Given the description of an element on the screen output the (x, y) to click on. 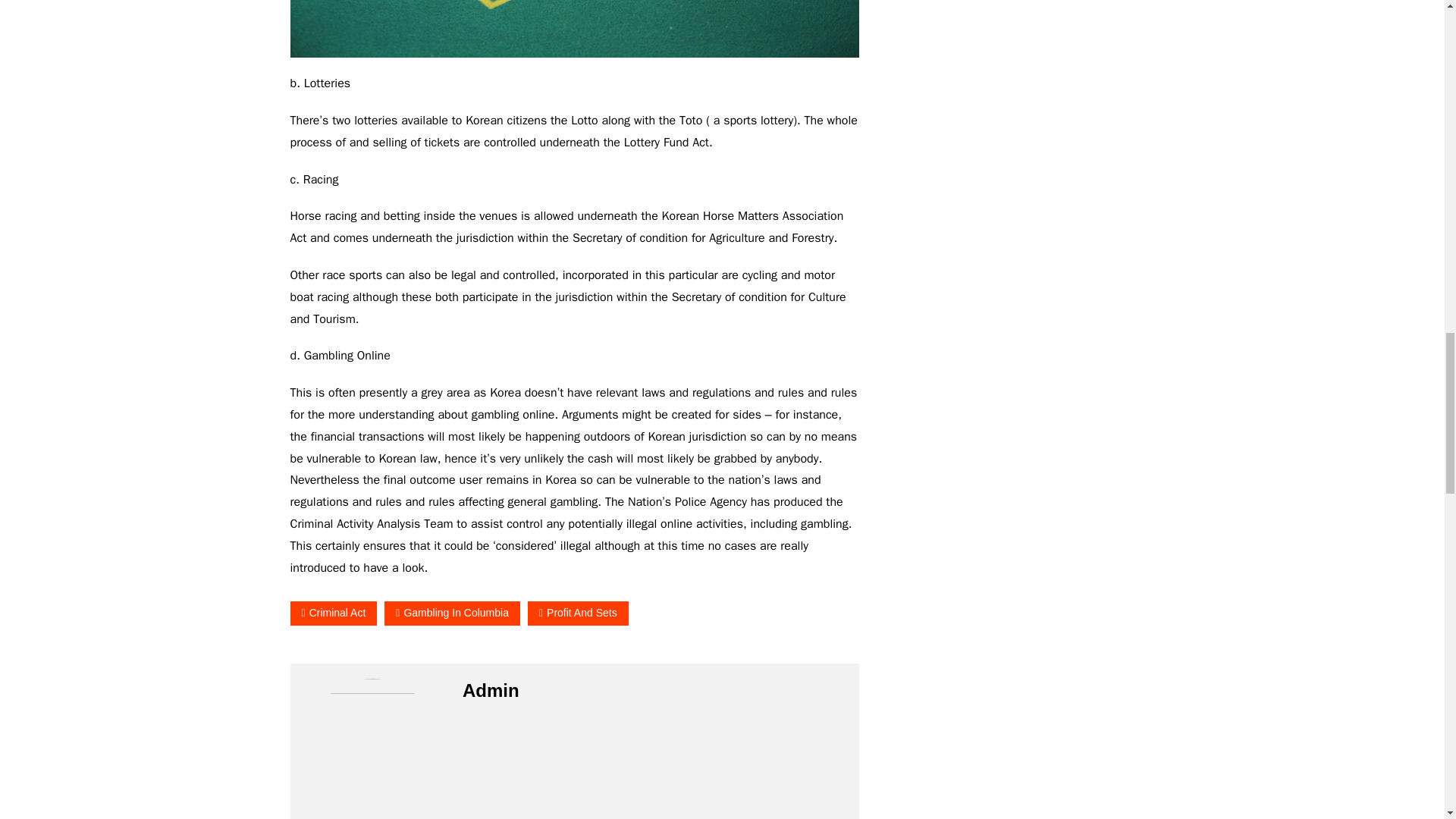
Profit And Sets (577, 612)
Gambling In Columbia (451, 612)
Criminal Act (333, 612)
